Given the description of an element on the screen output the (x, y) to click on. 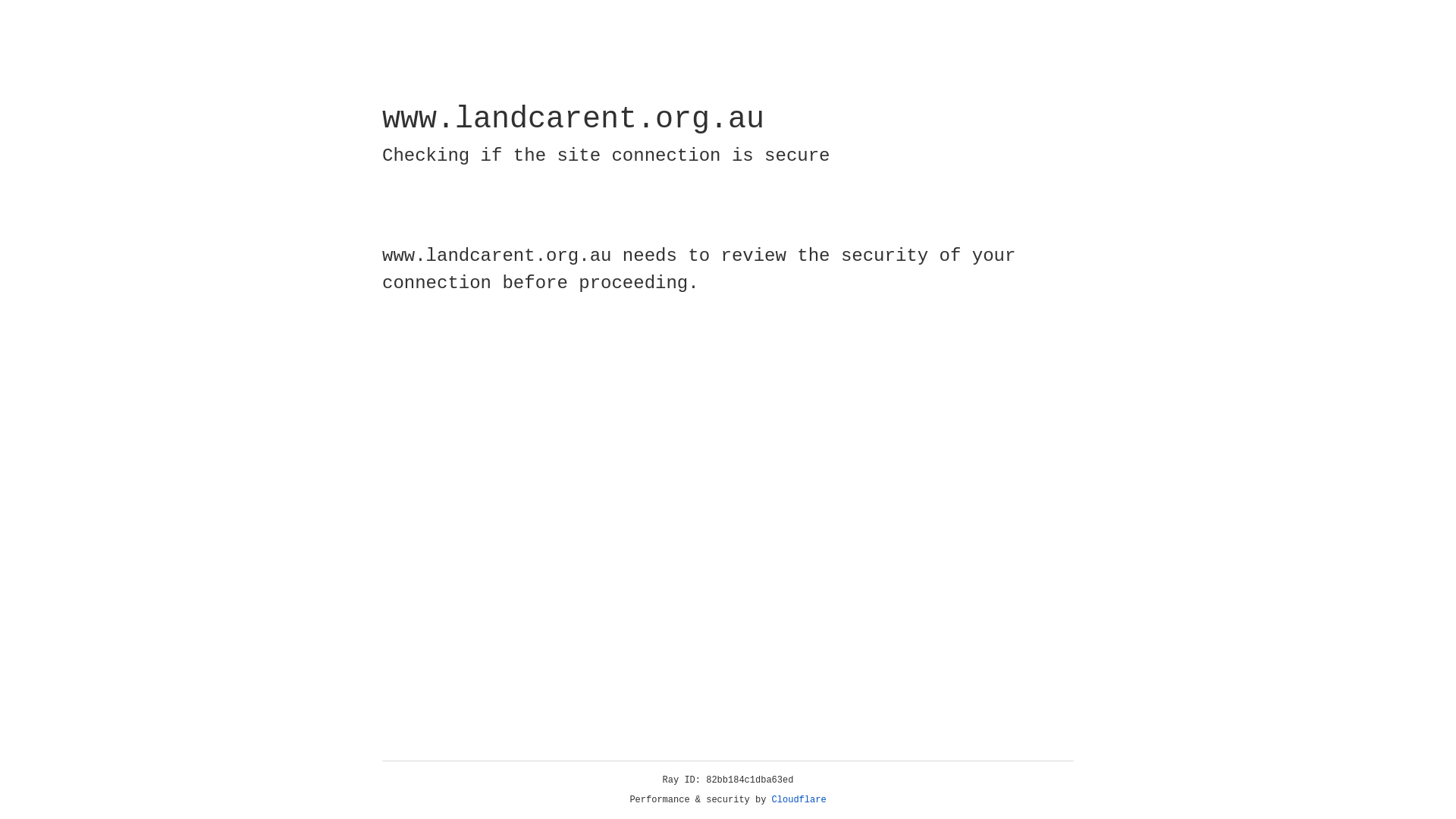
Cloudflare Element type: text (798, 799)
